Given the description of an element on the screen output the (x, y) to click on. 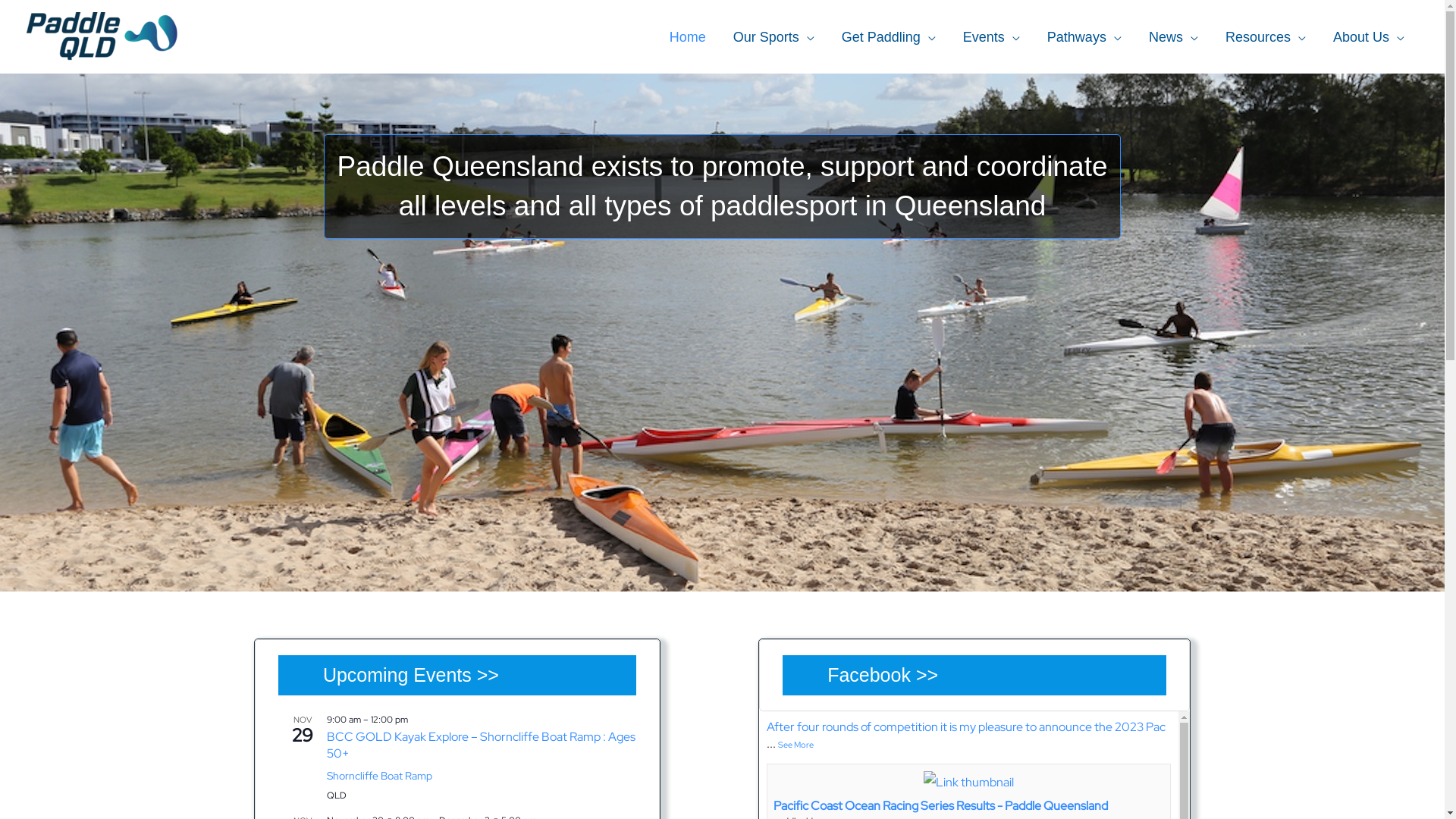
Our Sports Element type: text (773, 36)
Resources Element type: text (1265, 36)
News Element type: text (1173, 36)
Upcoming Events >> Element type: text (410, 674)
Get Paddling Element type: text (888, 36)
Facebook >> Element type: text (882, 674)
See More Element type: text (795, 744)
Home Element type: text (687, 36)
Pathways Element type: text (1084, 36)
Events Element type: text (991, 36)
Shorncliffe Boat Ramp Element type: text (378, 775)
About Us Element type: text (1368, 36)
